Given the description of an element on the screen output the (x, y) to click on. 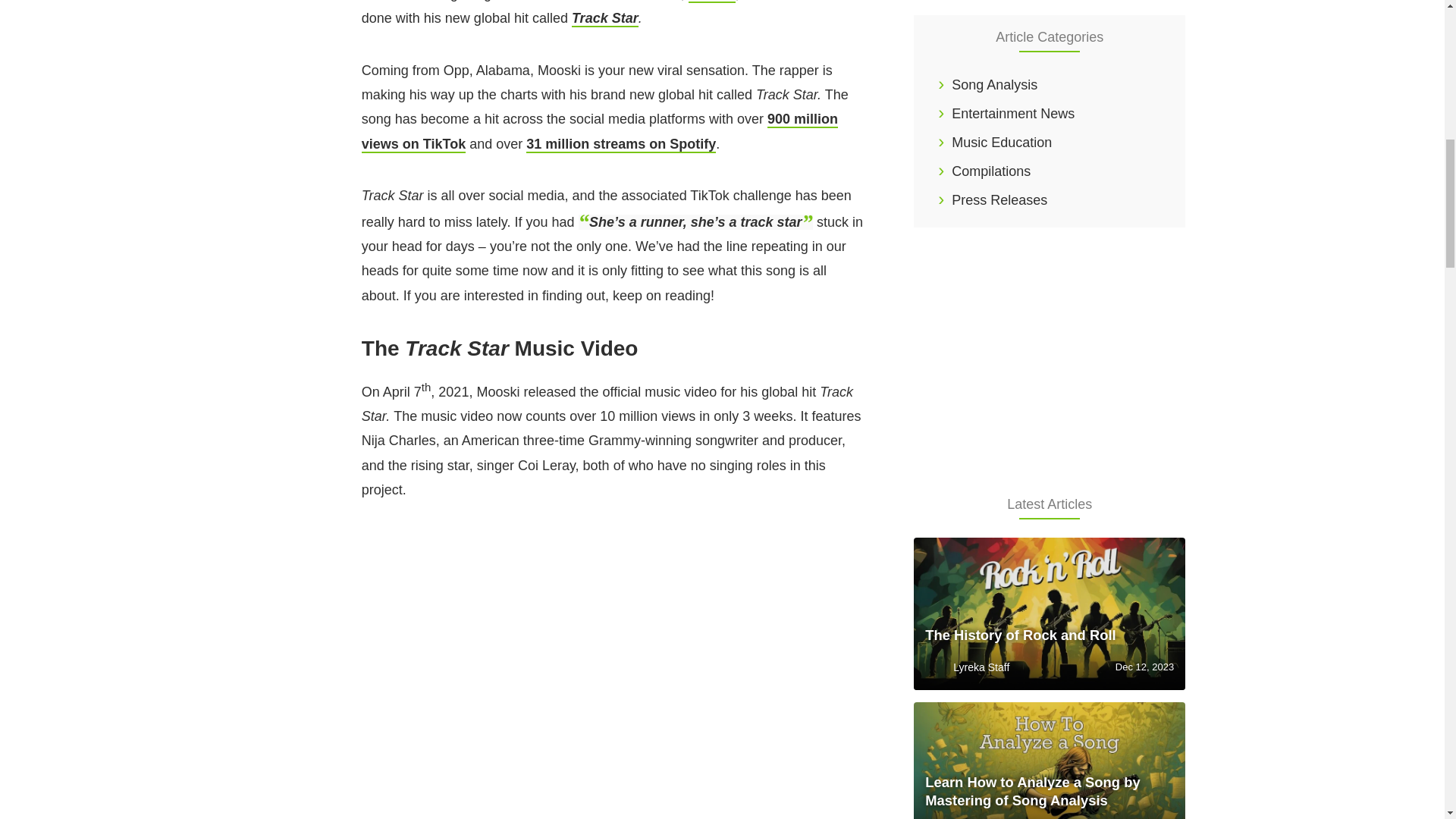
Mooski (711, 1)
Track Star (605, 18)
900 million views on TikTok (599, 131)
31 million streams on Spotify (620, 144)
